Given the description of an element on the screen output the (x, y) to click on. 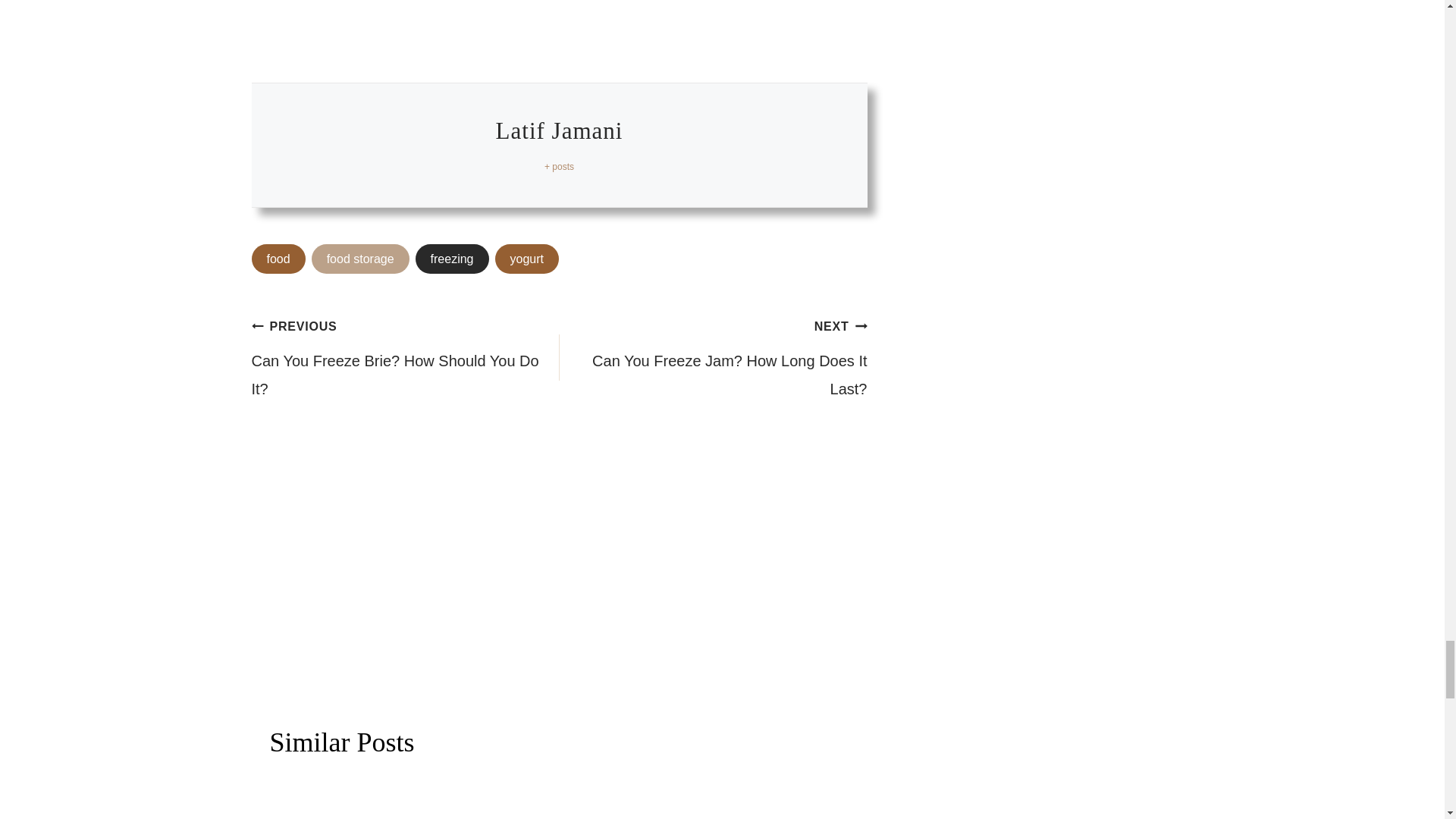
food storage (360, 259)
freezing (451, 259)
food (278, 259)
Does Ginger Root Go Bad? How to Keep Ginger Root Fresh 3 (711, 800)
How to Make The Perfect Oatmeal in a Rice Cooker 2 (406, 800)
yogurt (527, 259)
